Given the description of an element on the screen output the (x, y) to click on. 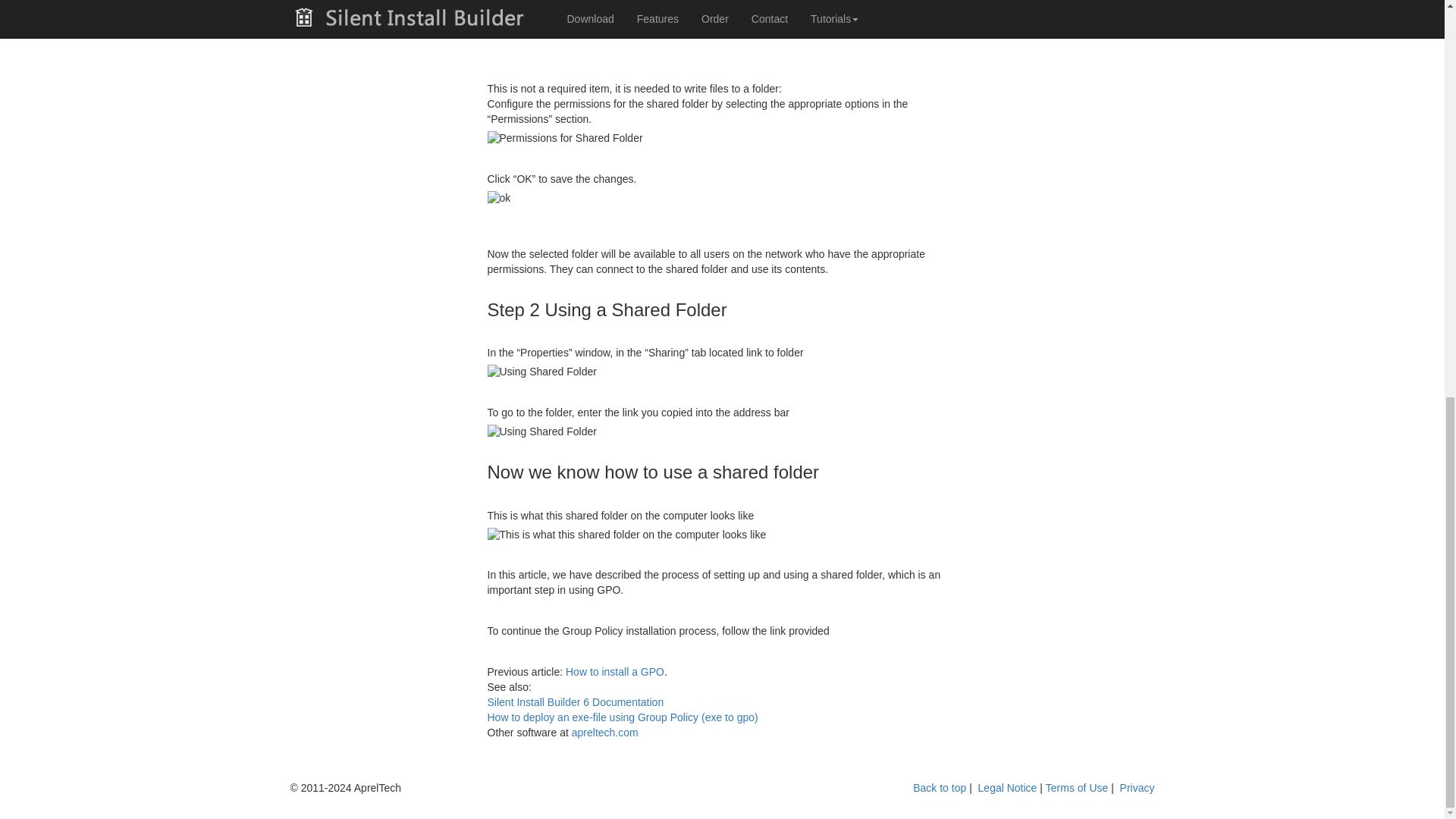
Terms of Use (1077, 787)
Silent Install Builder 6 Documentation (574, 702)
How to install a GPO (614, 671)
Back to top (939, 787)
Privacy (1136, 787)
apreltech.com (605, 732)
Legal Notice (1007, 787)
